Given the description of an element on the screen output the (x, y) to click on. 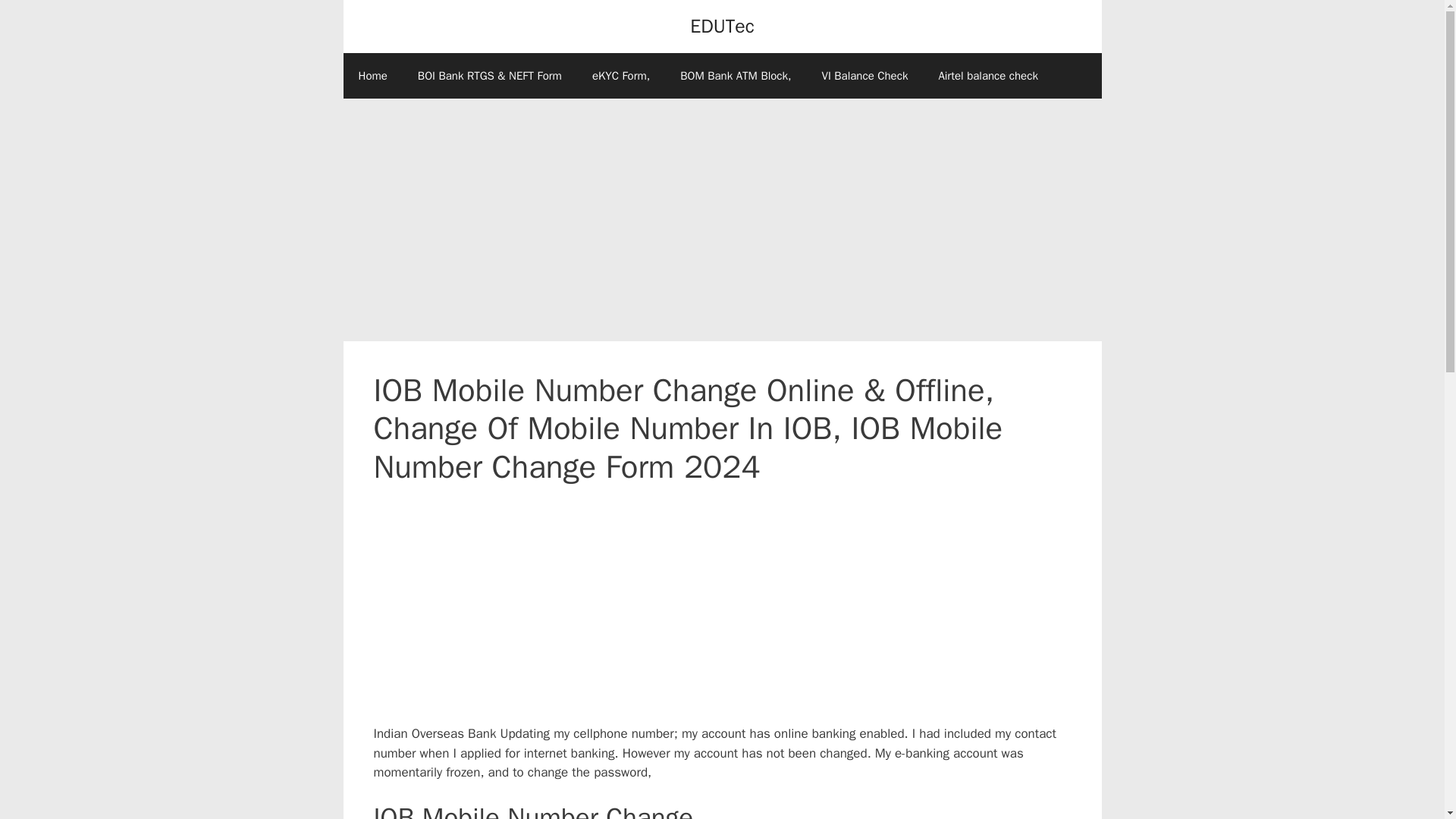
Home (371, 75)
BOM Bank ATM Block, (735, 75)
eKYC Form, (620, 75)
EDUTec (722, 25)
Airtel balance check (987, 75)
VI Balance Check (864, 75)
